Given the description of an element on the screen output the (x, y) to click on. 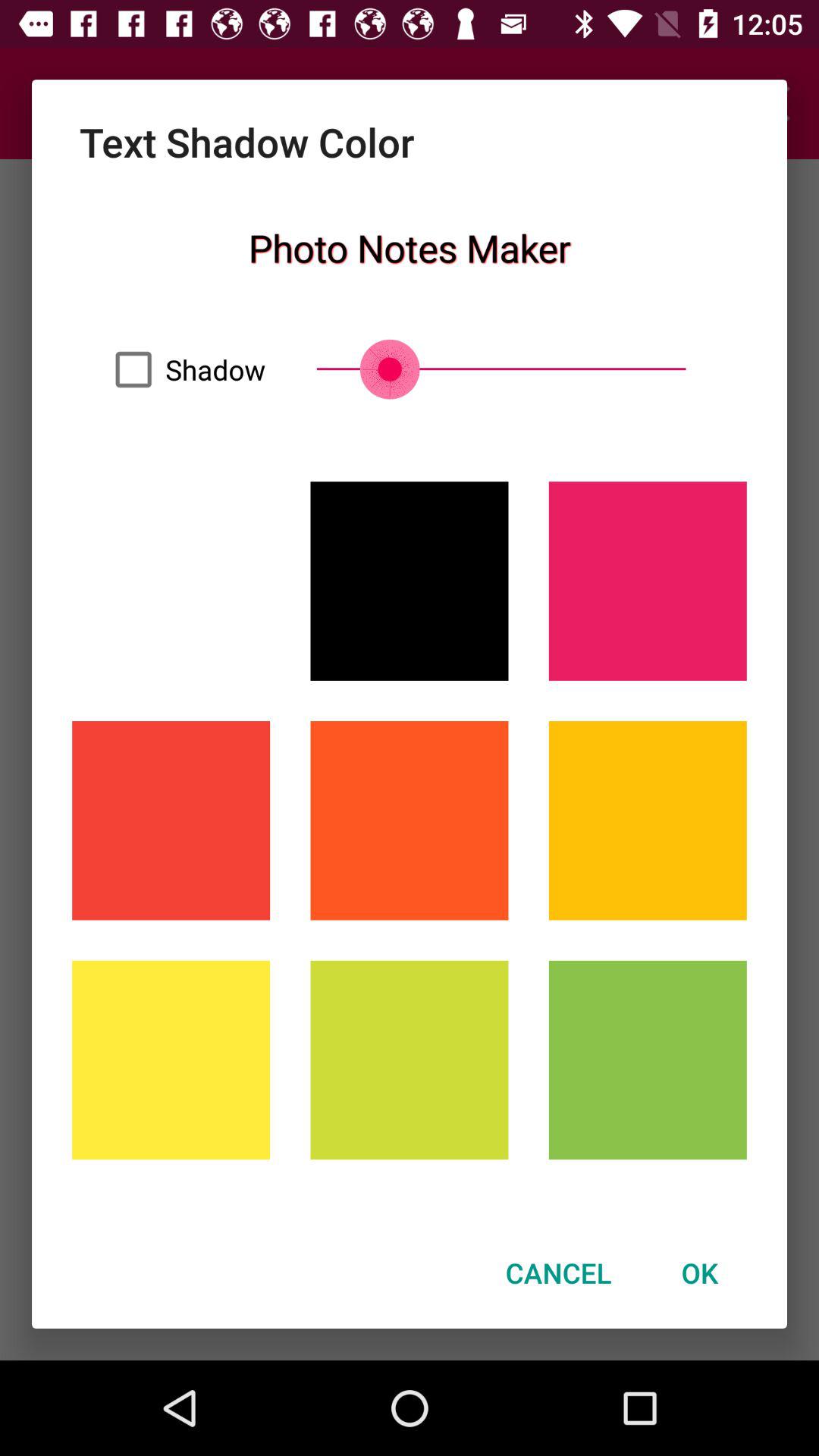
jump until cancel icon (558, 1272)
